Given the description of an element on the screen output the (x, y) to click on. 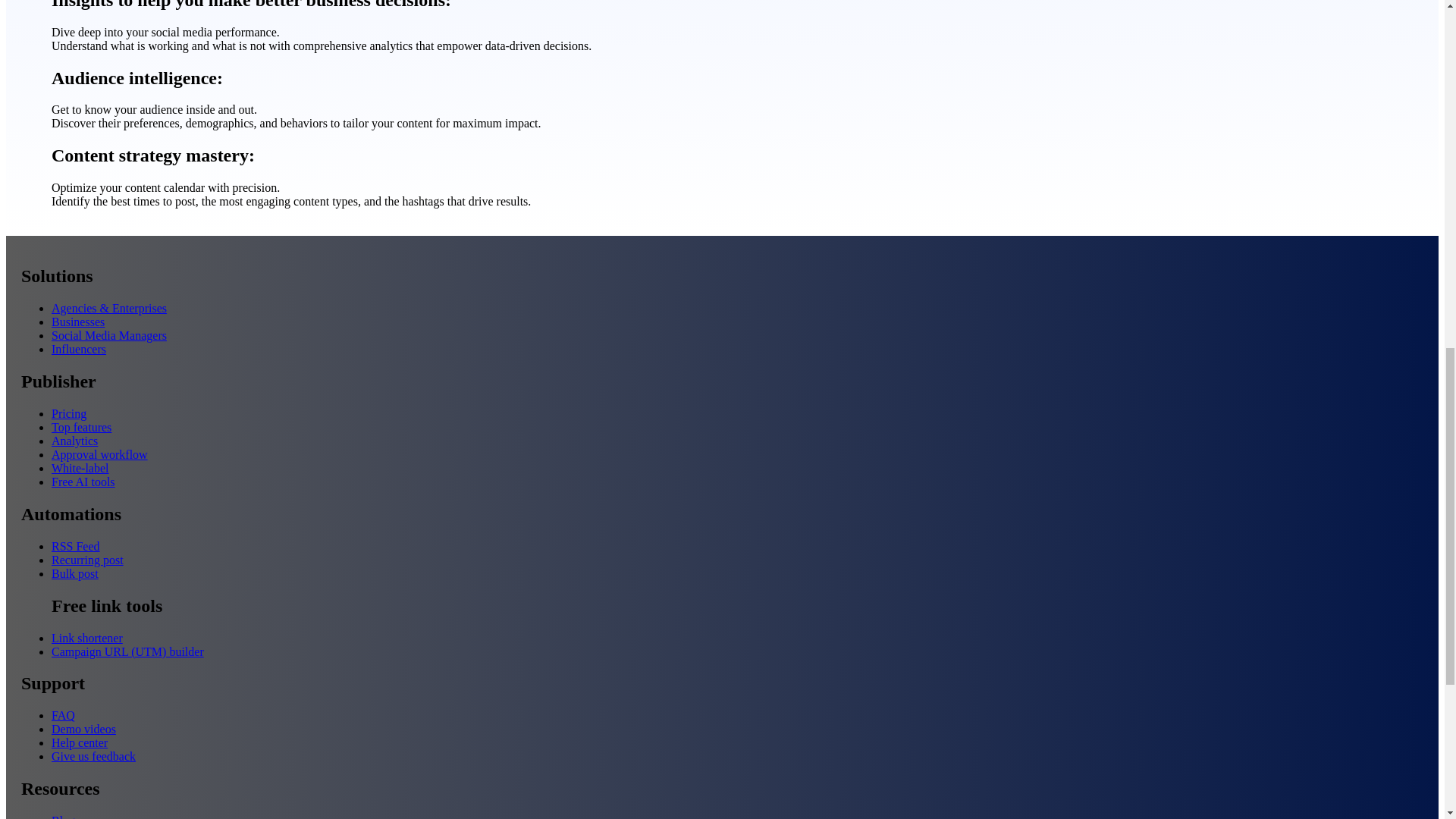
RSS Feed (75, 545)
Businesses (77, 321)
Social Media Managers (108, 335)
Influencers (78, 349)
Give us feedback (92, 756)
Help center (78, 742)
White-label (79, 468)
Recurring post (86, 559)
Free AI tools (82, 481)
FAQ (62, 715)
